Given the description of an element on the screen output the (x, y) to click on. 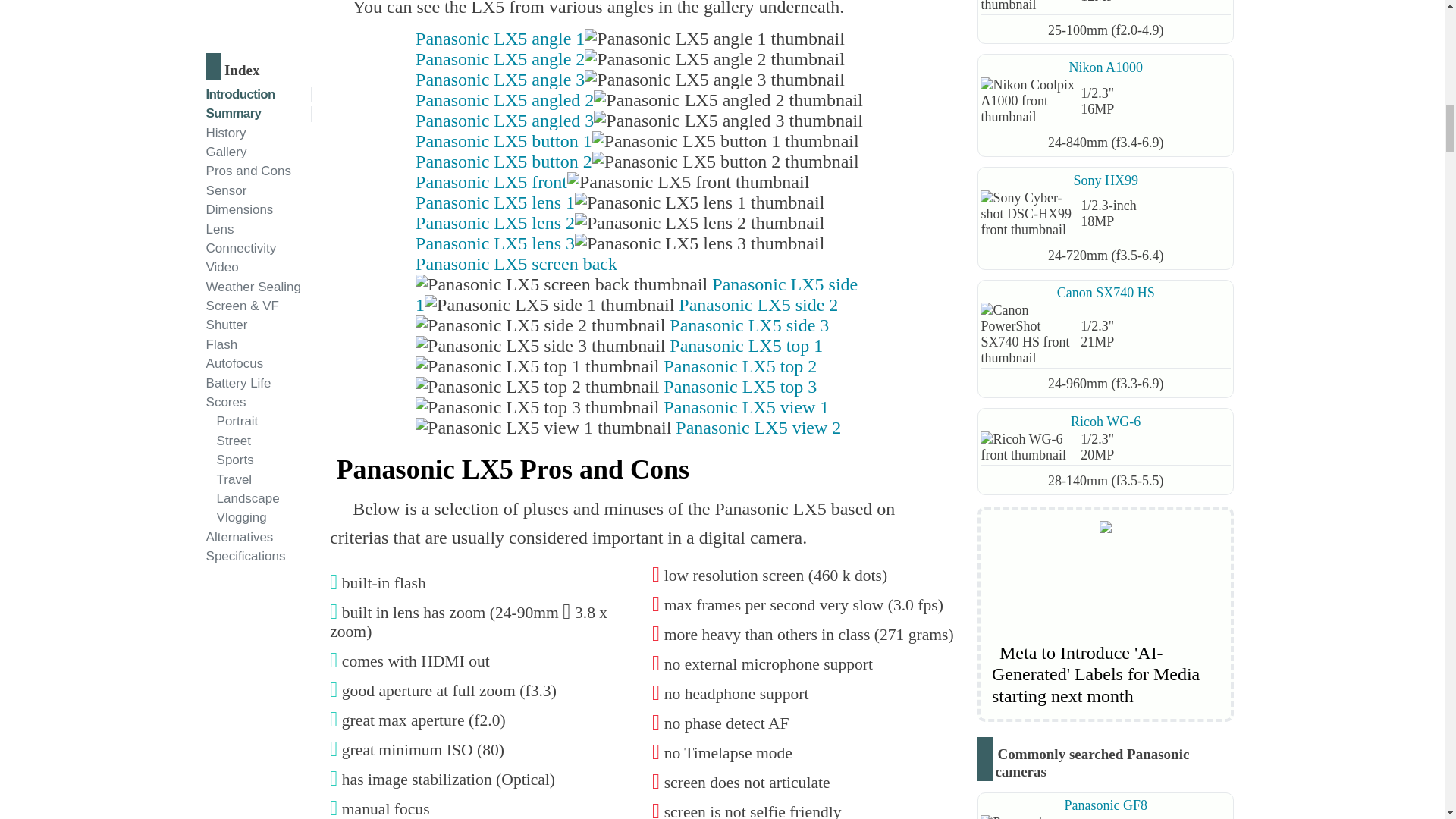
Panasonic LX5 angle 3 (629, 79)
Panasonic LX5 angle 2 thumbnail (714, 59)
Panasonic LX5 button 1 (636, 140)
Panasonic LX5 angled 3 (638, 120)
Panasonic LX5 angle 2 (629, 58)
Panasonic LX5 angle 3 thumbnail (714, 79)
Panasonic LX5 angled 3 thumbnail (728, 120)
Panasonic LX5 angle 1 (629, 38)
Panasonic LX5 angled 2 (638, 99)
Panasonic LX5 angle 1 thumbnail (714, 38)
